Given the description of an element on the screen output the (x, y) to click on. 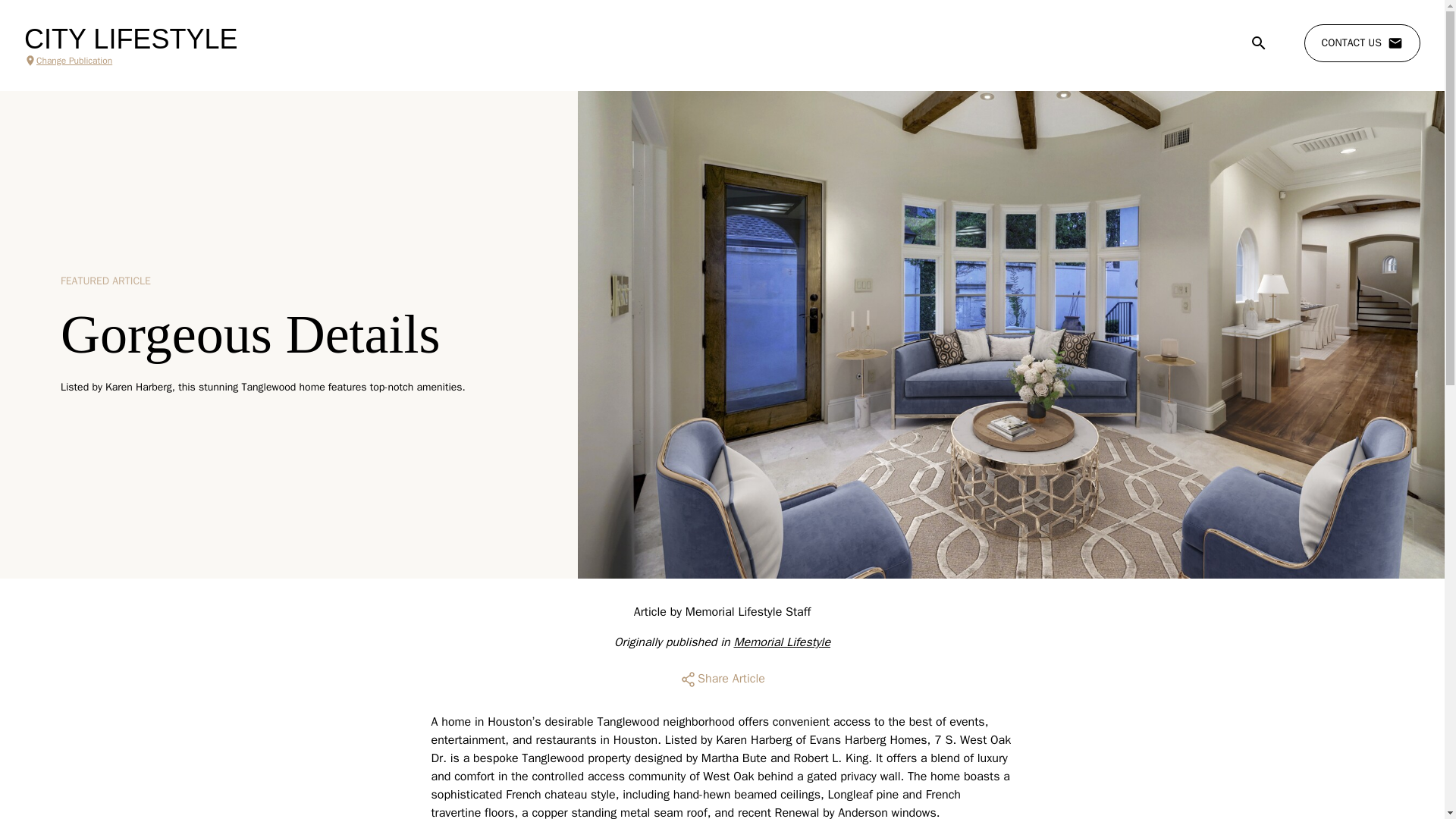
Change Publication (130, 60)
CONTACT US (1362, 43)
Share Article (722, 678)
CITY LIFESTYLE (130, 39)
Memorial Lifestyle (782, 642)
